Given the description of an element on the screen output the (x, y) to click on. 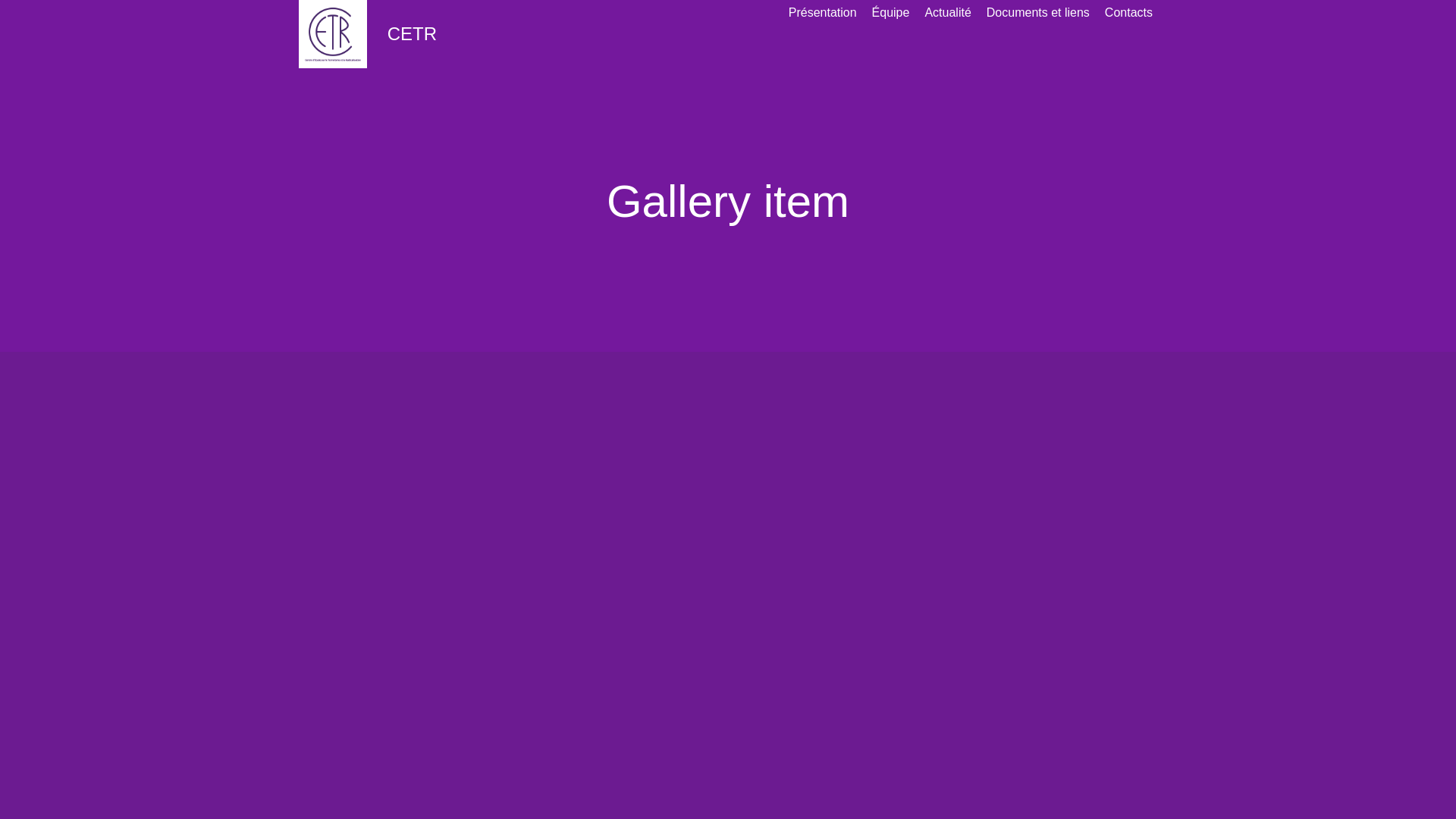
Contacts Element type: text (1128, 12)
CETR Element type: text (365, 34)
Documents et liens Element type: text (1038, 12)
